Given the description of an element on the screen output the (x, y) to click on. 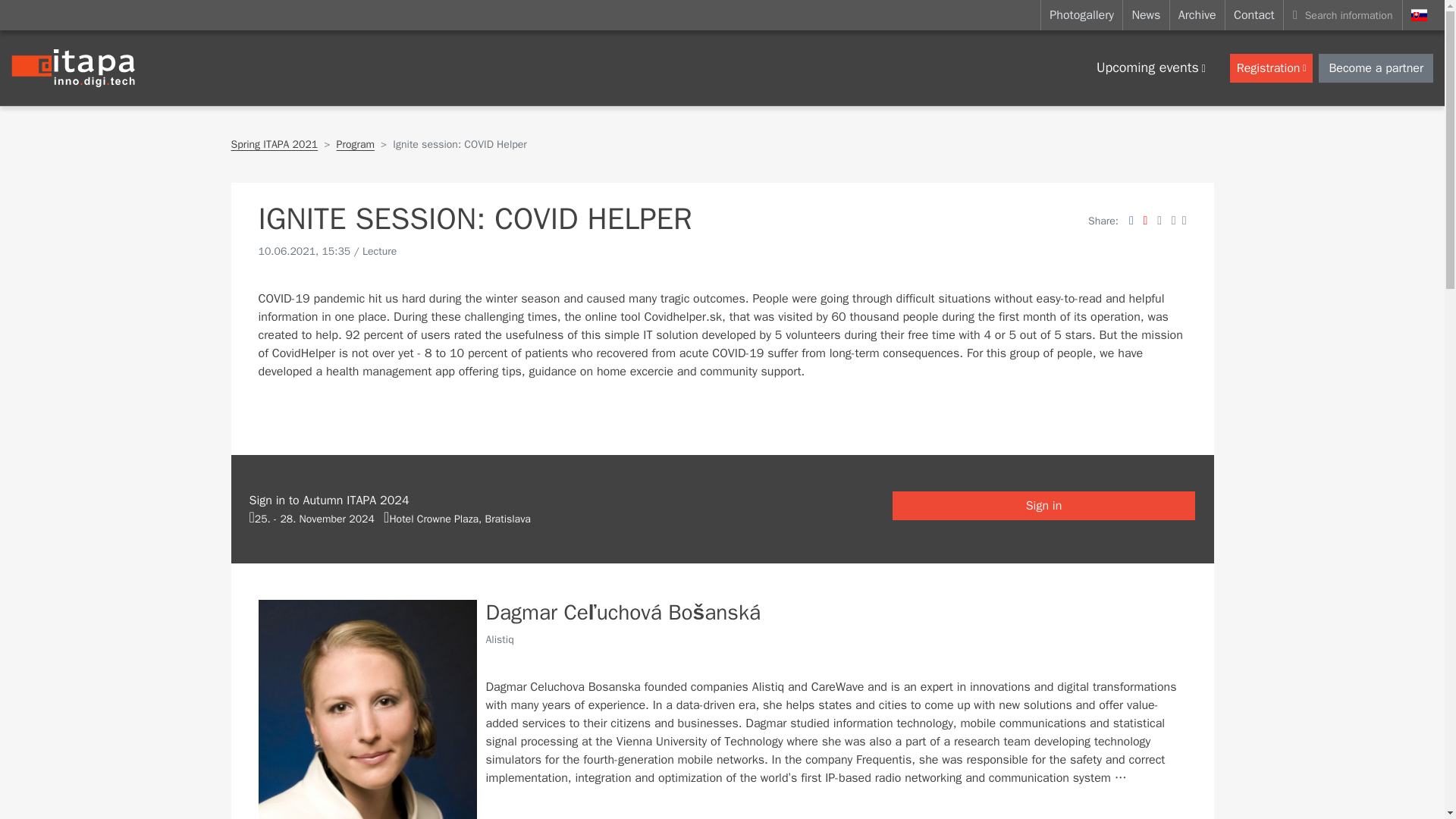
YouTube (1145, 220)
News (1145, 15)
:Zobrazit-okno-s-vyhladavanim: (1343, 15)
Generate ics file for import to calendar (311, 518)
Spring ITAPA 2021 (273, 144)
Facebook (1131, 220)
Become a partner (1375, 67)
Photogallery (1081, 15)
Program (355, 144)
Search information (1343, 15)
Contact (1253, 15)
Archive (1197, 15)
Registration (1271, 67)
Upcoming events (1150, 67)
